Given the description of an element on the screen output the (x, y) to click on. 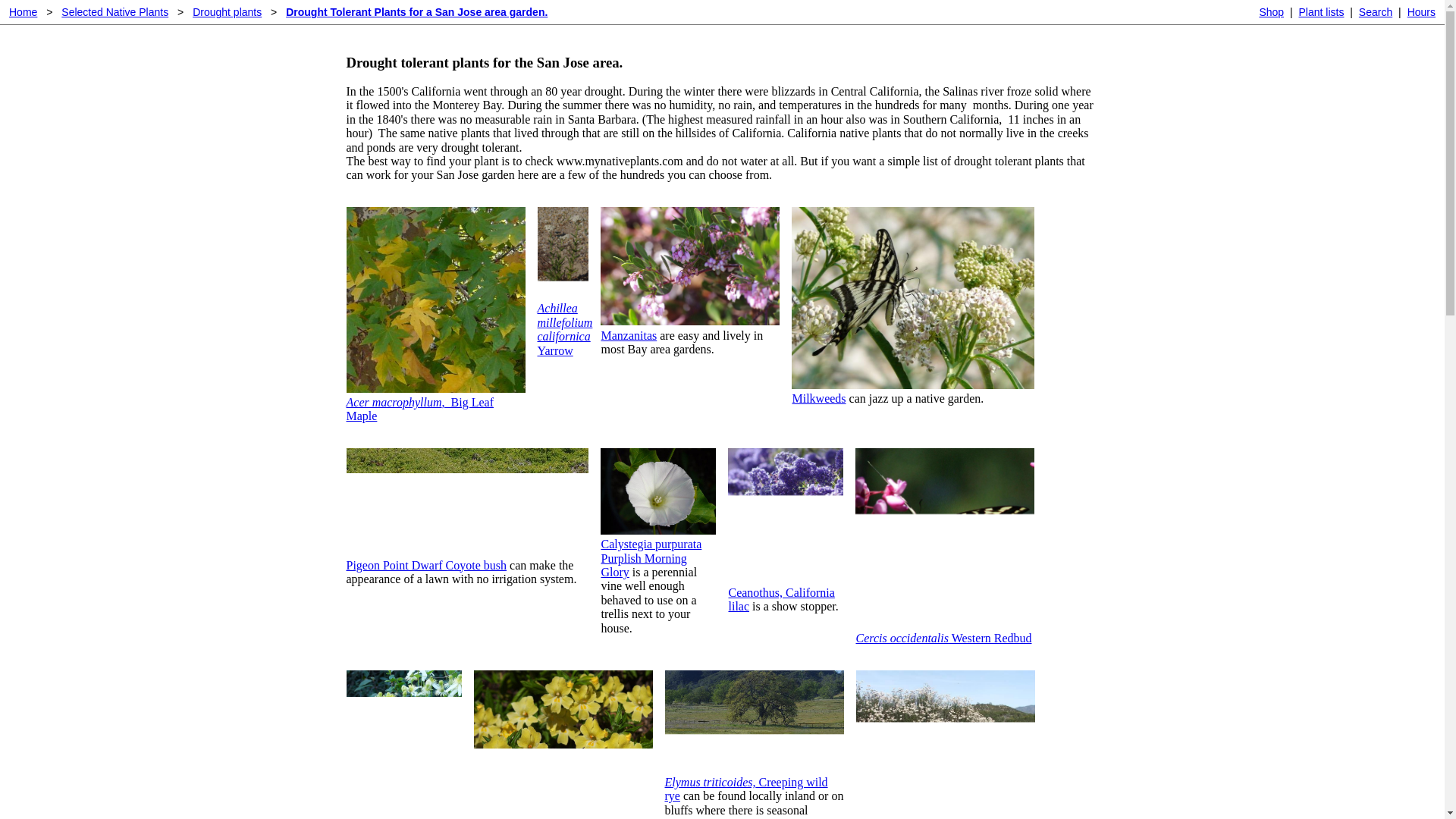
Plant lists (1321, 12)
Drought Tolerant Plants for a San Jose area garden. (416, 12)
Browse California native plants and buy them online. (1271, 12)
Hours (1421, 12)
Milkweeds (818, 398)
Achillea millefolium californica Yarrow (564, 329)
Cercis occidentalis Western Redbud (943, 637)
Hours (1421, 12)
Drought tolerant plants (416, 12)
Search the website. (1374, 12)
Manzanitas (627, 335)
Acer macrophyllum,  Big Leaf Maple (419, 408)
Home (22, 12)
Calystegia purpurata Purplish Morning Glory (657, 530)
This Yarrow was out in one of the driveways in full sun. (562, 294)
